Given the description of an element on the screen output the (x, y) to click on. 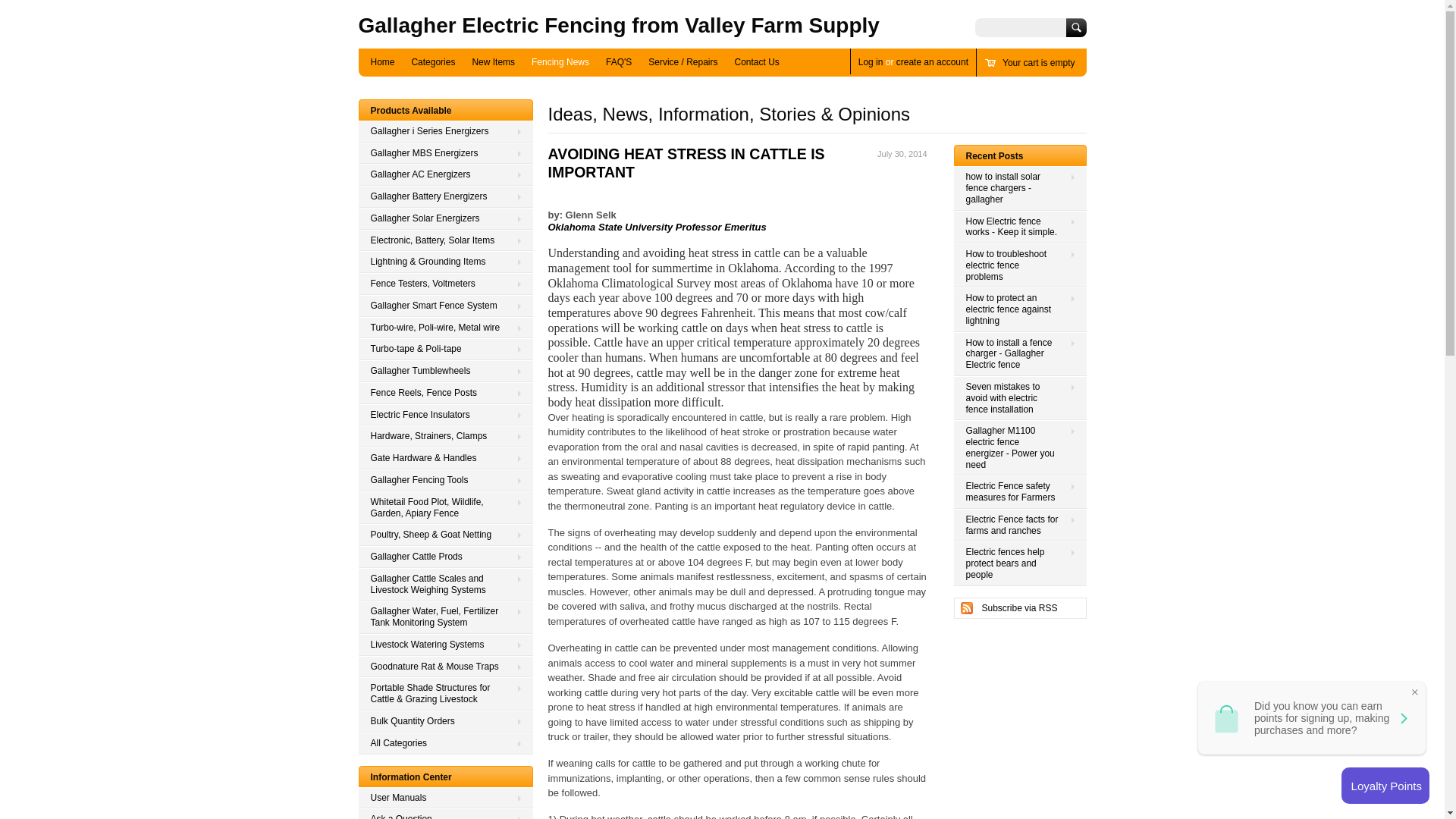
Electric Fence facts for farms and ranches (1019, 525)
FAQ'S (618, 62)
how to install solar fence chargers -gallagher (1019, 187)
Gallagher M1100 electric fence energizer - Power you need (1019, 447)
Gallagher MBS Energizers (445, 153)
Gallagher MBS Energizers (445, 153)
create an account (932, 61)
Home (381, 62)
Electric fences help protect bears and people (1019, 563)
Gallagher Battery Energizers (445, 196)
Gallagher i Series Energizers (445, 131)
how to install solar fence chargers -gallagher (1019, 187)
Categories (433, 62)
How to troubleshoot electric fence problems (1019, 265)
Search (1075, 27)
